Given the description of an element on the screen output the (x, y) to click on. 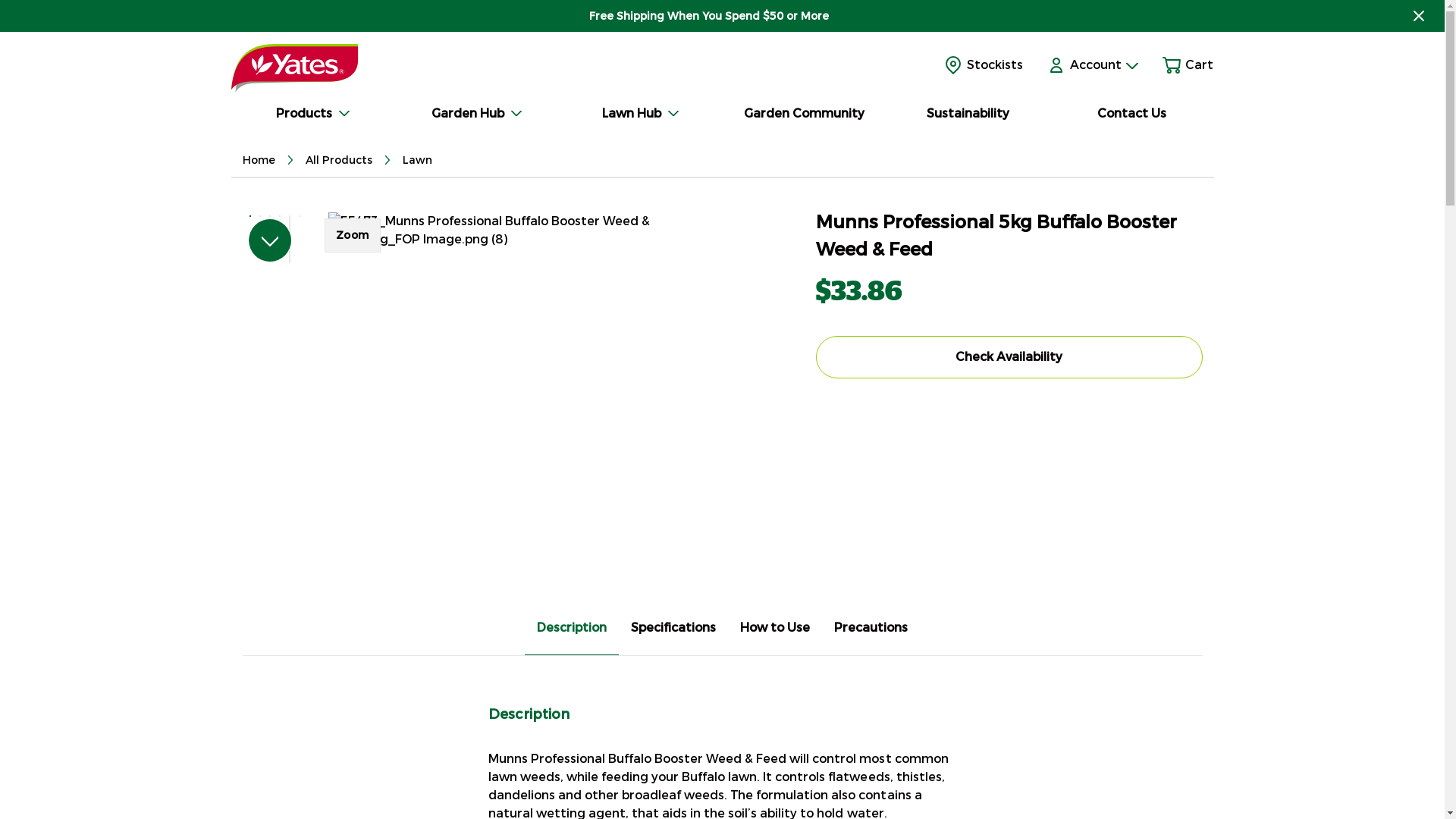
Specifications Element type: text (673, 627)
Lawn Hub Element type: text (640, 110)
Precautions Element type: text (870, 627)
Check Availability Element type: text (1008, 356)
All Products Element type: text (340, 160)
Sustainability Element type: text (967, 110)
Garden Hub Element type: text (476, 110)
Garden Community Element type: text (803, 110)
Next Element type: text (269, 240)
Lawn Element type: text (417, 160)
Shopping cart Element type: hover (1171, 65)
Contact Us Element type: text (1131, 110)
How to Use Element type: text (775, 627)
Yates Element type: hover (293, 67)
Description Element type: text (571, 627)
Products Element type: text (312, 110)
Stockists Element type: text (983, 65)
Cart Element type: text (1196, 65)
Account Element type: text (1104, 65)
Home Element type: text (258, 160)
